Given the description of an element on the screen output the (x, y) to click on. 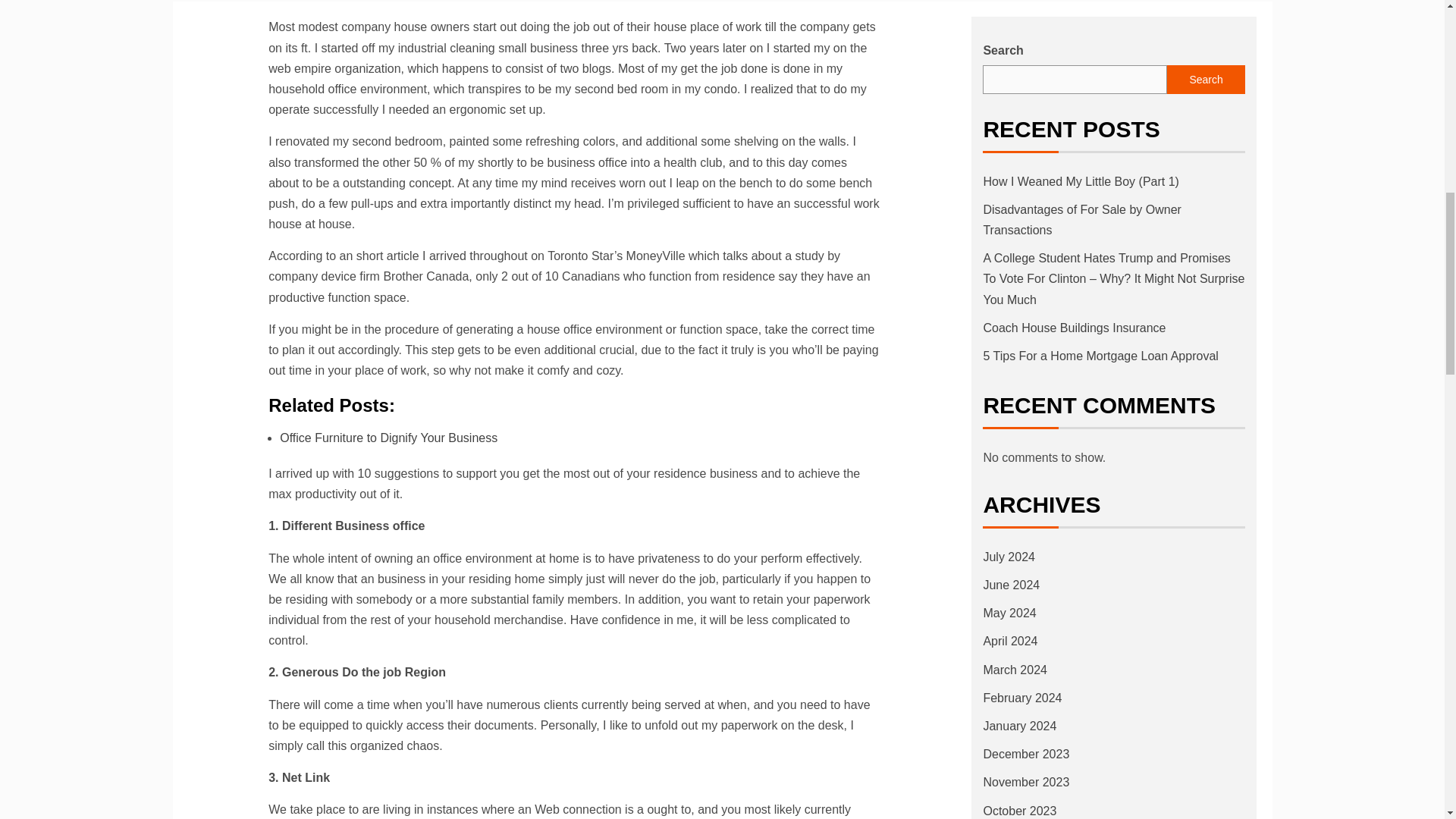
Office Furniture to Dignify Your Business (388, 437)
